Given the description of an element on the screen output the (x, y) to click on. 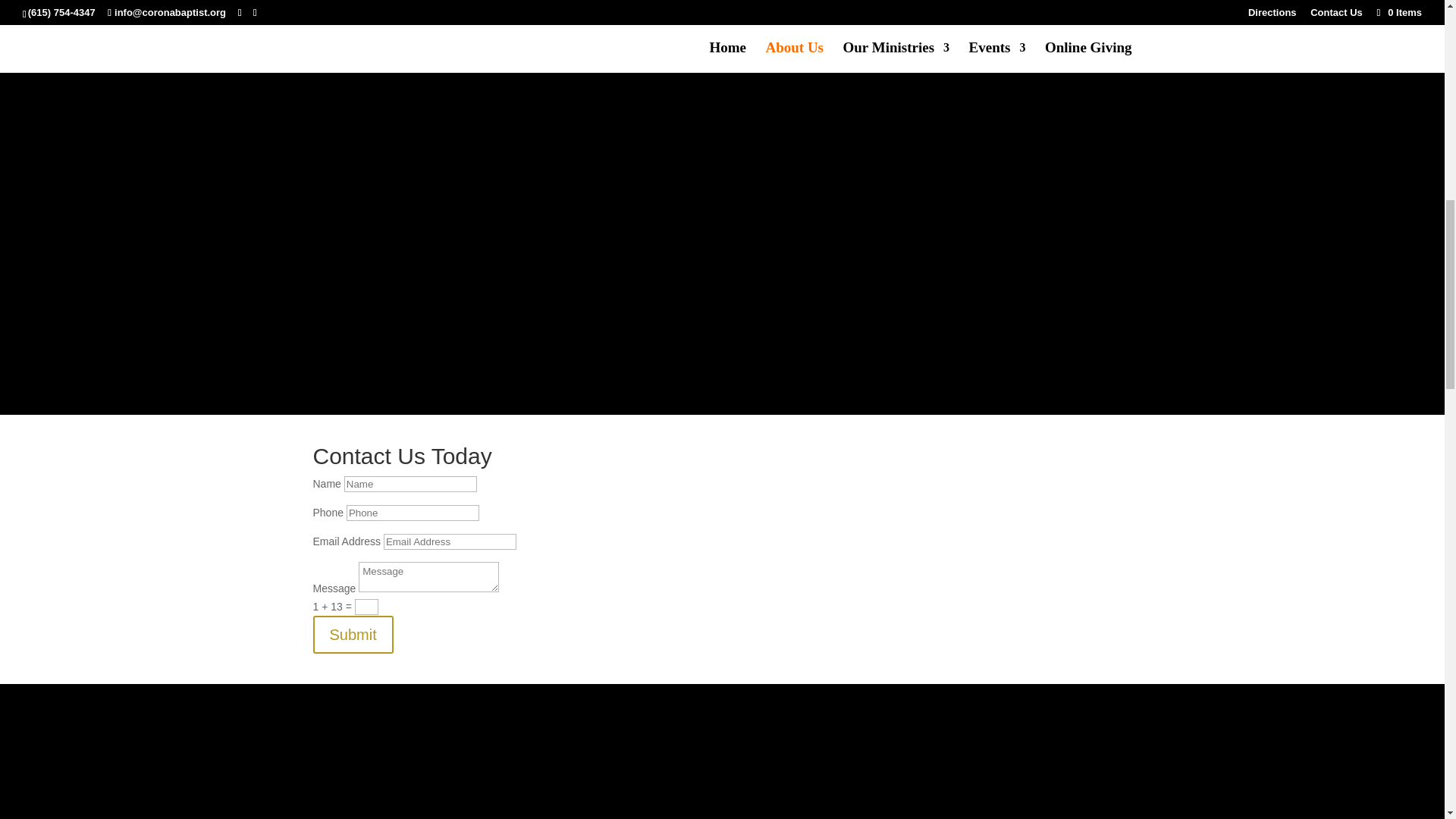
Submit (353, 634)
